Given the description of an element on the screen output the (x, y) to click on. 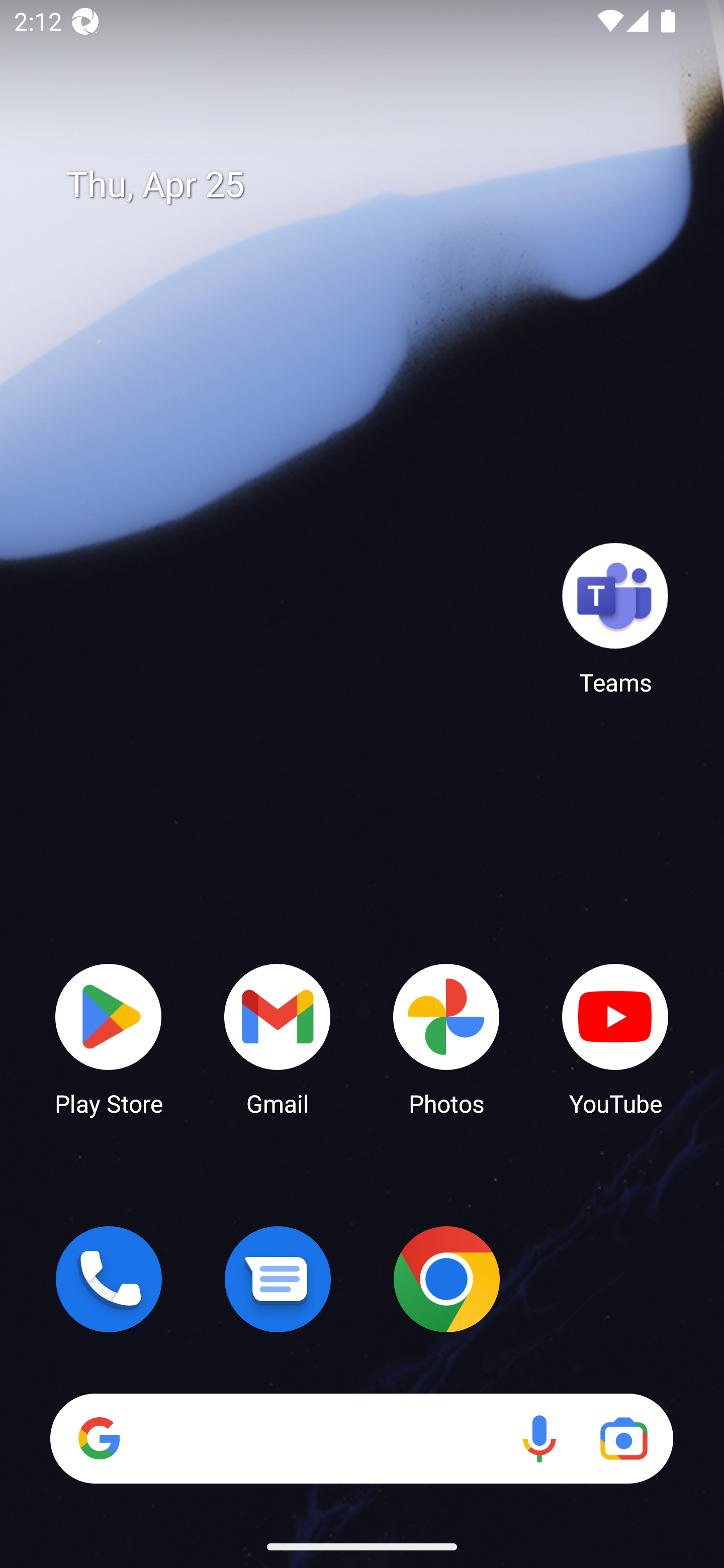
Thu, Apr 25 (375, 184)
Teams (615, 617)
Play Store (108, 1038)
Gmail (277, 1038)
Photos (445, 1038)
YouTube (615, 1038)
Phone (108, 1279)
Messages (277, 1279)
Chrome (446, 1279)
Search Voice search Google Lens (361, 1438)
Voice search (539, 1438)
Google Lens (623, 1438)
